Given the description of an element on the screen output the (x, y) to click on. 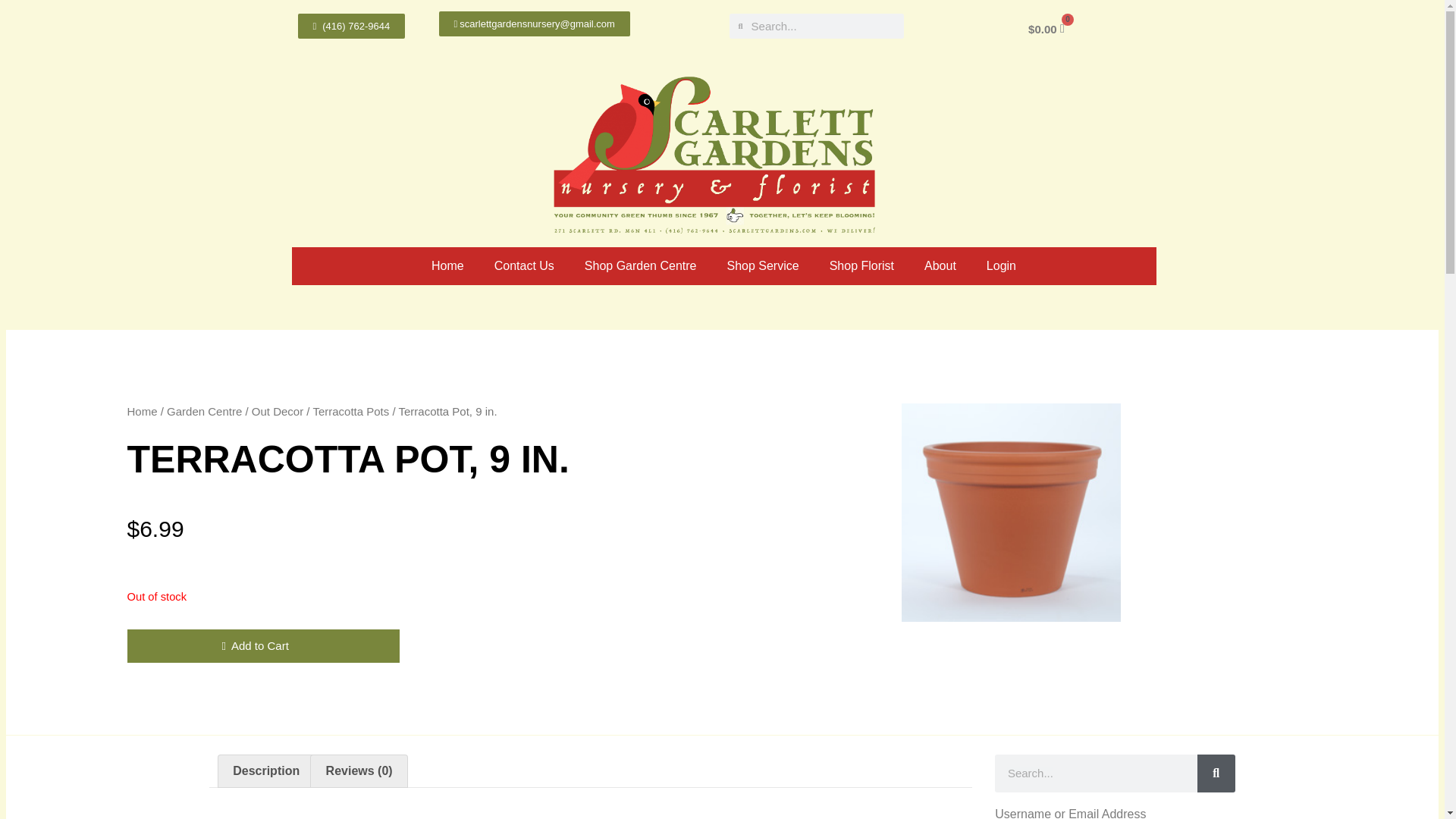
Home (447, 266)
Shop Garden Centre (640, 266)
Header Logo Scarlett Gardens Crop PNG (717, 149)
Contact Us (524, 266)
